Given the description of an element on the screen output the (x, y) to click on. 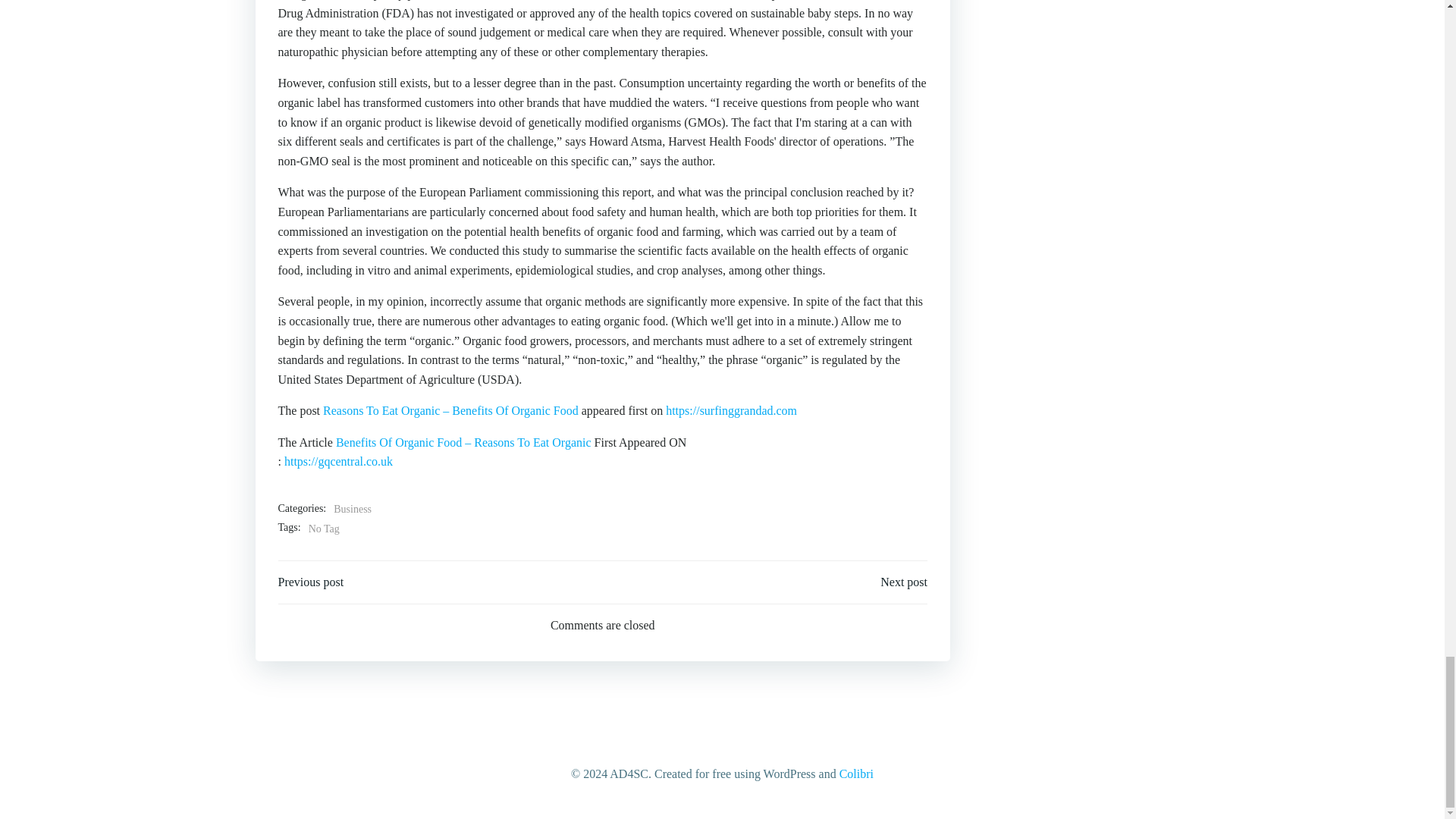
Business (352, 509)
Previous post (310, 582)
Next post (903, 582)
